Given the description of an element on the screen output the (x, y) to click on. 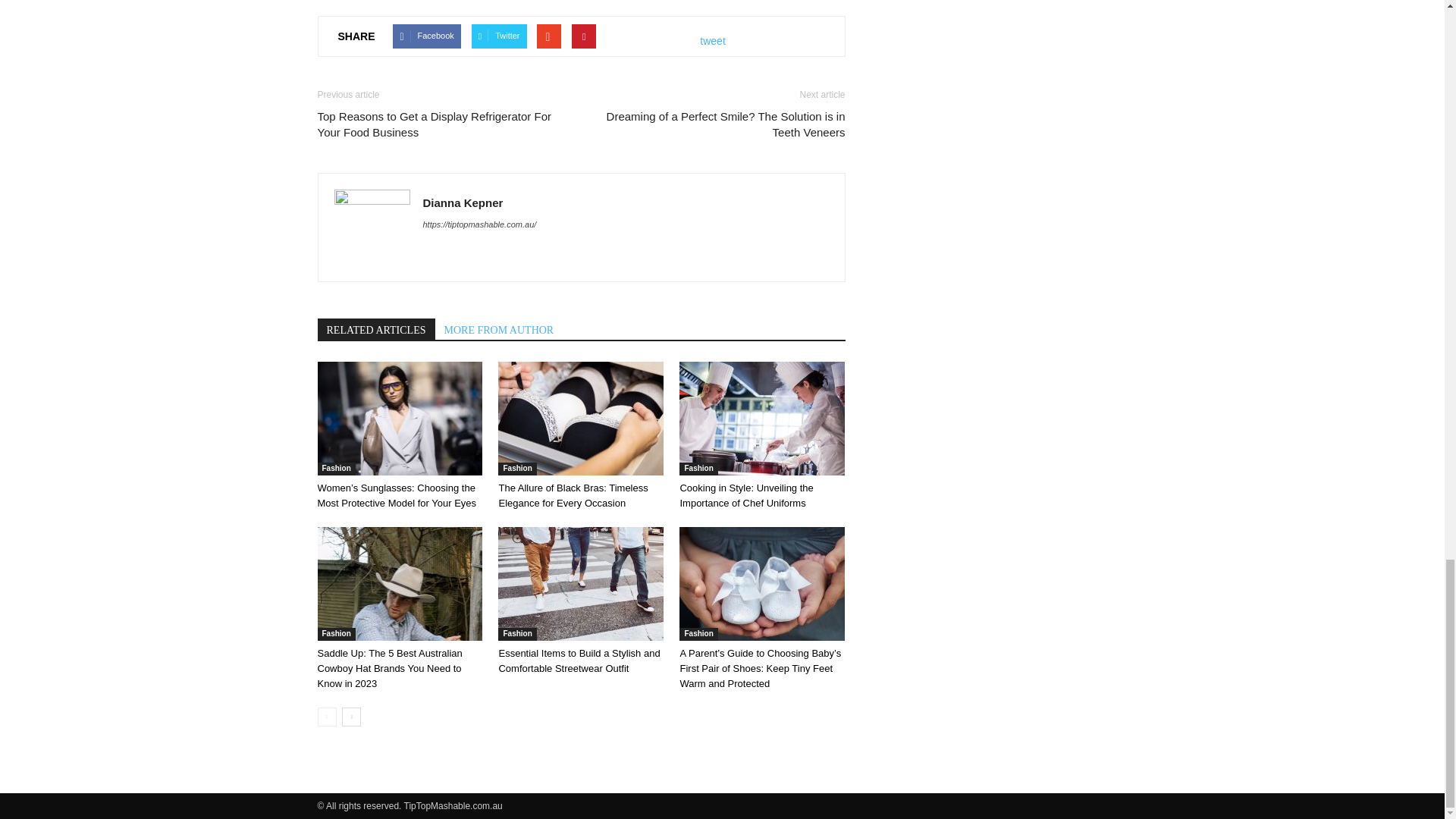
Cooking in Style: Unveiling the Importance of Chef Uniforms (745, 495)
Cooking in Style: Unveiling the Importance of Chef Uniforms (761, 418)
